Given the description of an element on the screen output the (x, y) to click on. 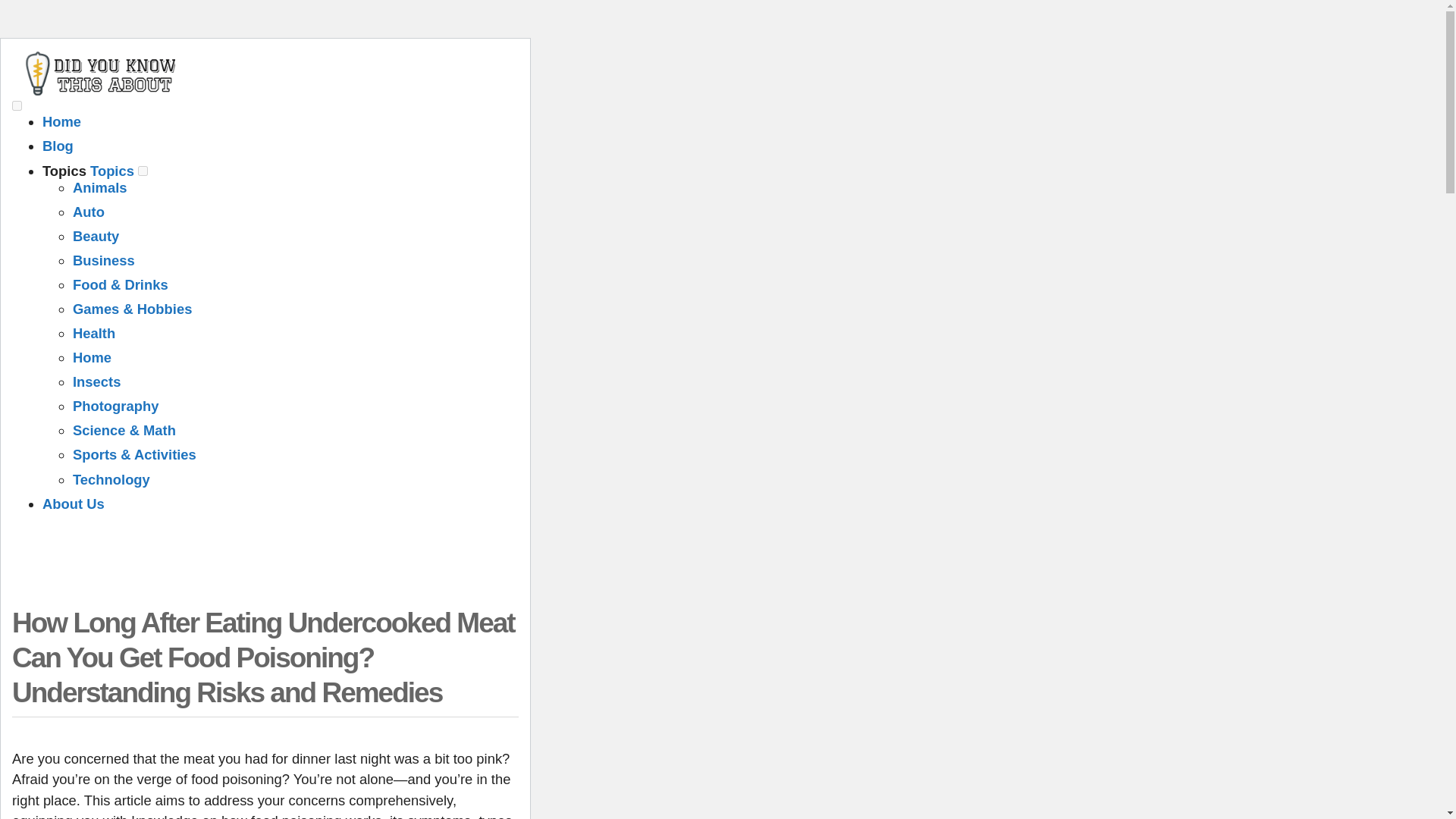
Home (61, 121)
Technology (110, 479)
Health (93, 333)
Animals (100, 187)
on (16, 105)
Business (103, 260)
About Us (73, 503)
Auto (88, 211)
Beauty (95, 236)
Insects (96, 381)
on (143, 171)
Blog (58, 145)
Home (92, 357)
Topics (111, 170)
Photography (115, 406)
